Given the description of an element on the screen output the (x, y) to click on. 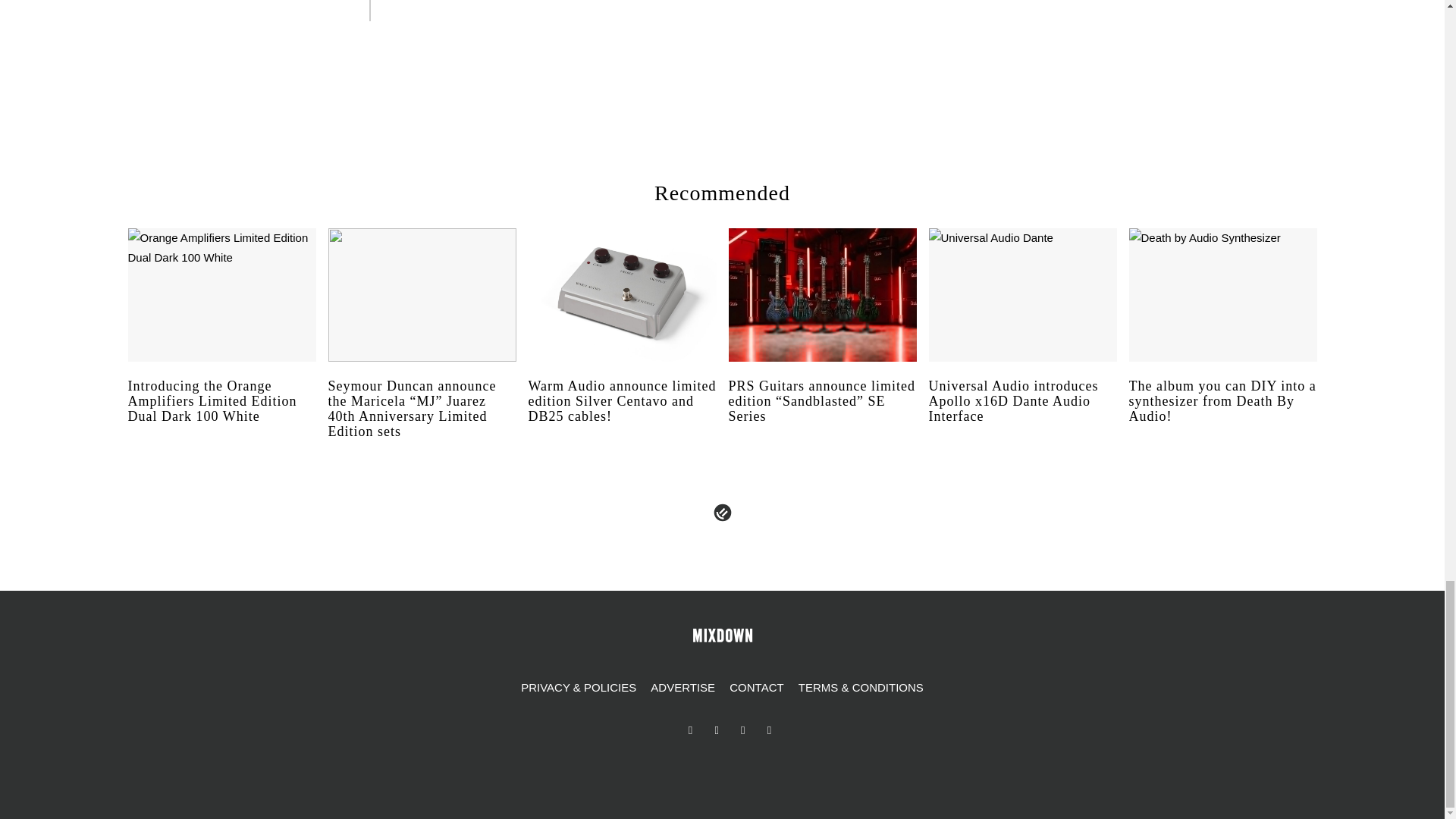
ADVERTISE (682, 687)
CONTACT (756, 687)
Universal Audio introduces Apollo x16D Dante Audio Interface (1022, 415)
